Given the description of an element on the screen output the (x, y) to click on. 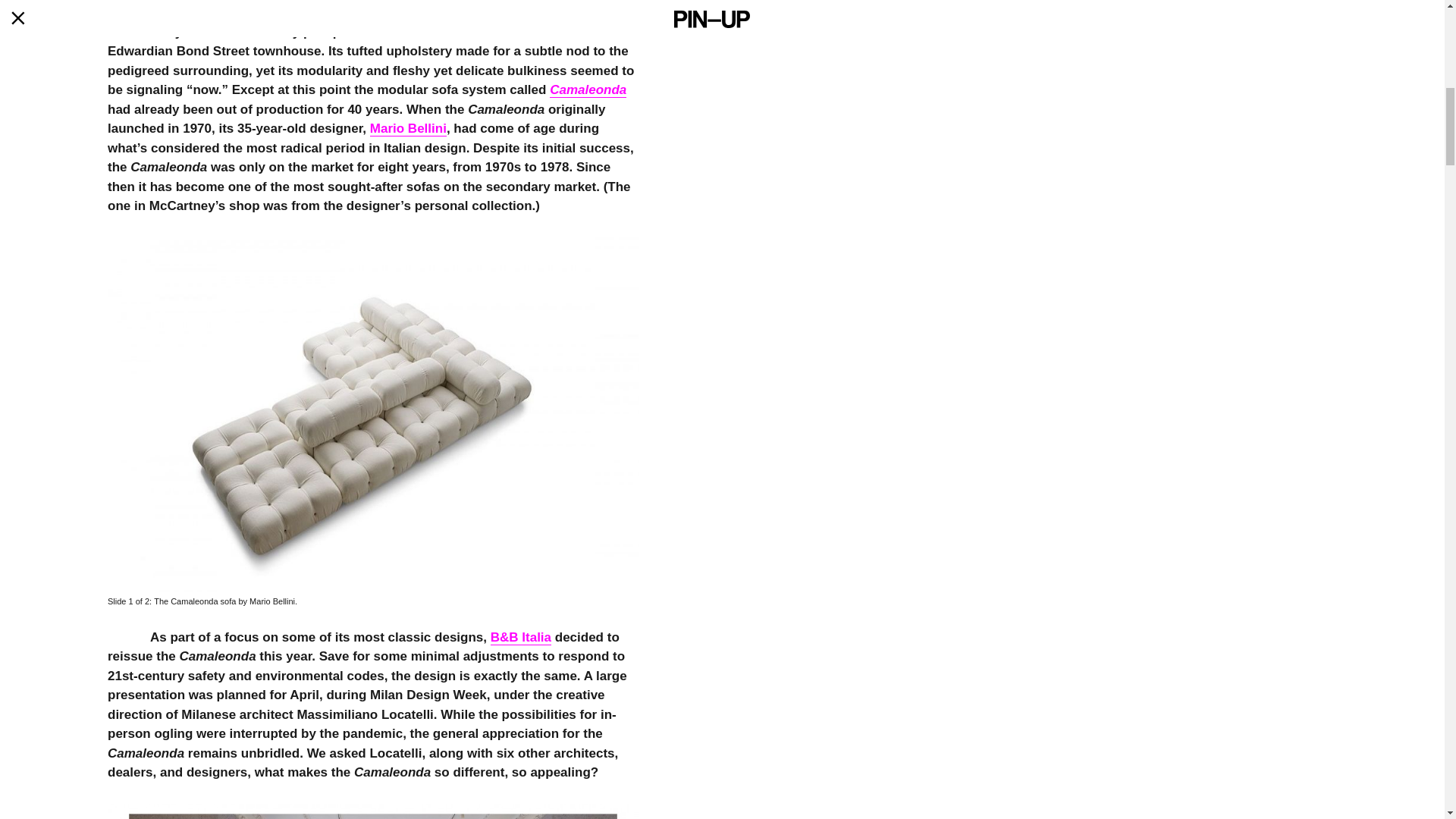
Camaleonda (588, 89)
Mario Bellini (407, 128)
